Given the description of an element on the screen output the (x, y) to click on. 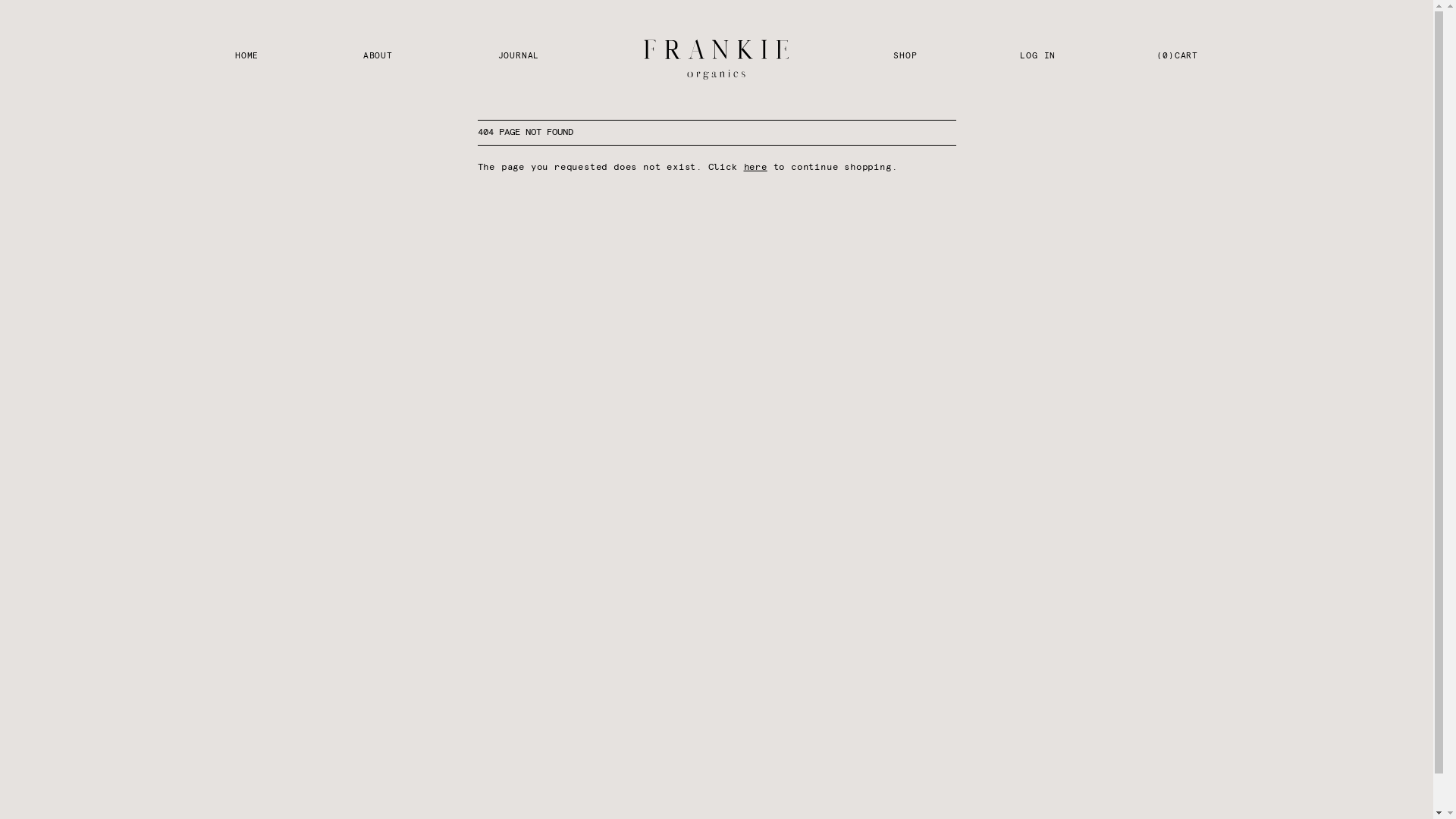
JOURNAL Element type: text (518, 59)
here Element type: text (754, 167)
HOME Element type: text (246, 59)
(0)CART Element type: text (1177, 59)
SHOP Element type: text (904, 60)
LOG IN Element type: text (1037, 59)
ABOUT Element type: text (377, 60)
